Given the description of an element on the screen output the (x, y) to click on. 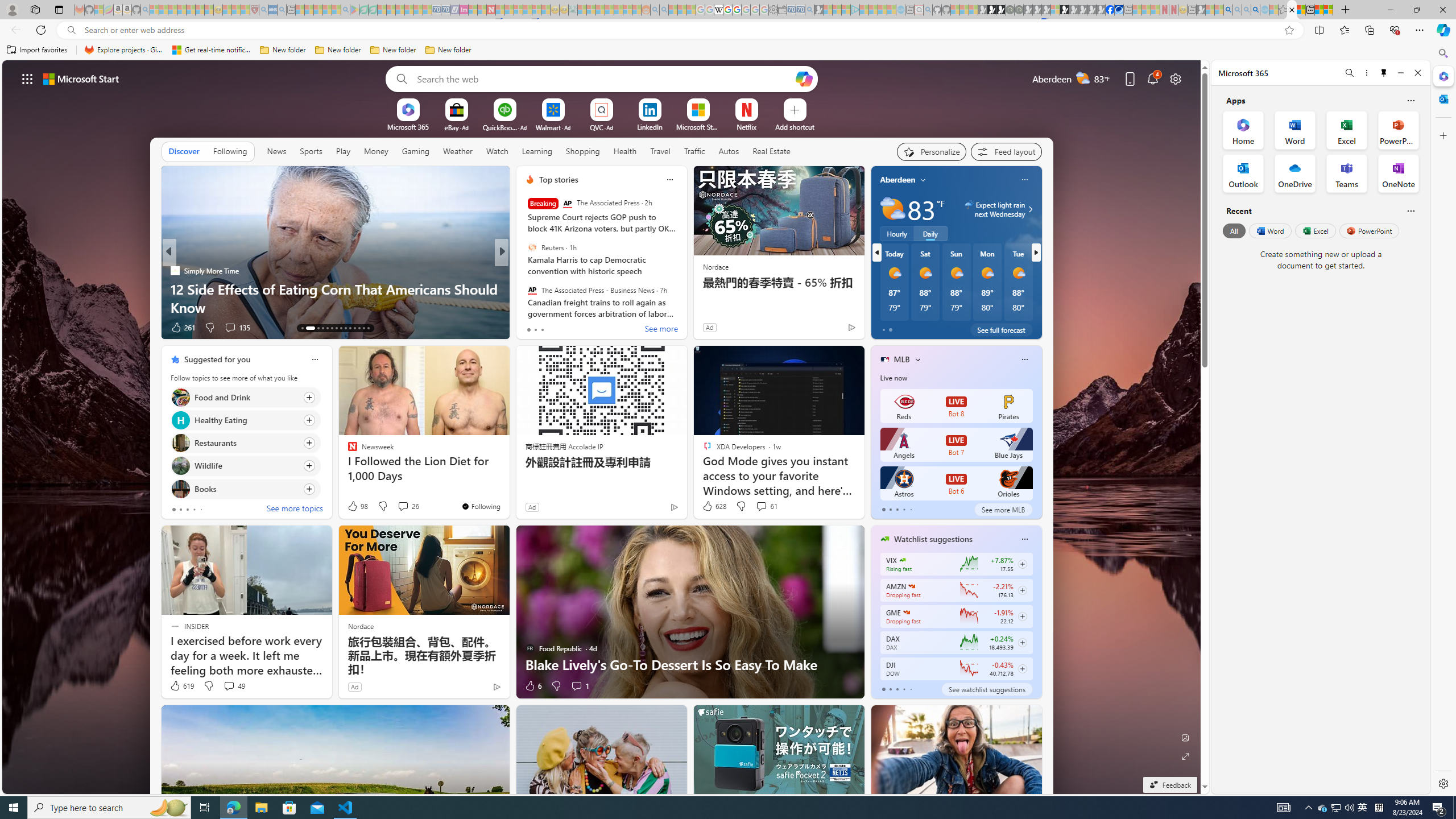
I Lost 88 Pounds With These 4 Simple Binge-Busting Tips (684, 298)
364 Like (532, 327)
28 Like (530, 327)
Weather (457, 151)
tab-2 (897, 689)
Home Office App (1243, 129)
OneNote Office App (1398, 172)
CBOE Market Volatility Index (901, 559)
ZDNet (524, 270)
View comments 13 Comment (580, 327)
Autos (729, 151)
Personalize your feed" (931, 151)
